Given the description of an element on the screen output the (x, y) to click on. 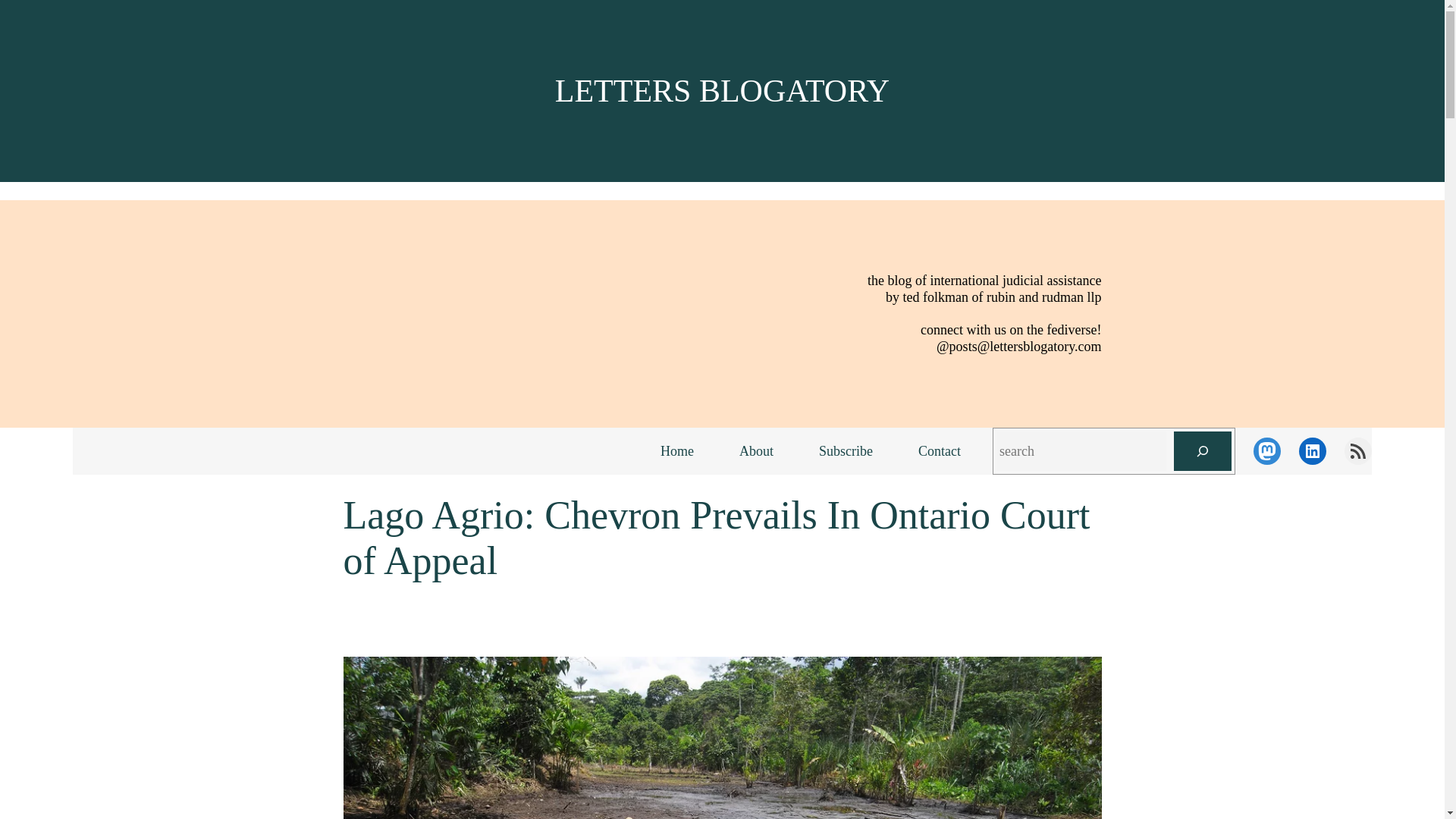
About (756, 451)
LinkedIn (1312, 451)
Home (676, 451)
Contact (939, 451)
Mastodon (1267, 451)
Subscribe (845, 451)
Letters Blogatory RSS feed (1357, 451)
